Given the description of an element on the screen output the (x, y) to click on. 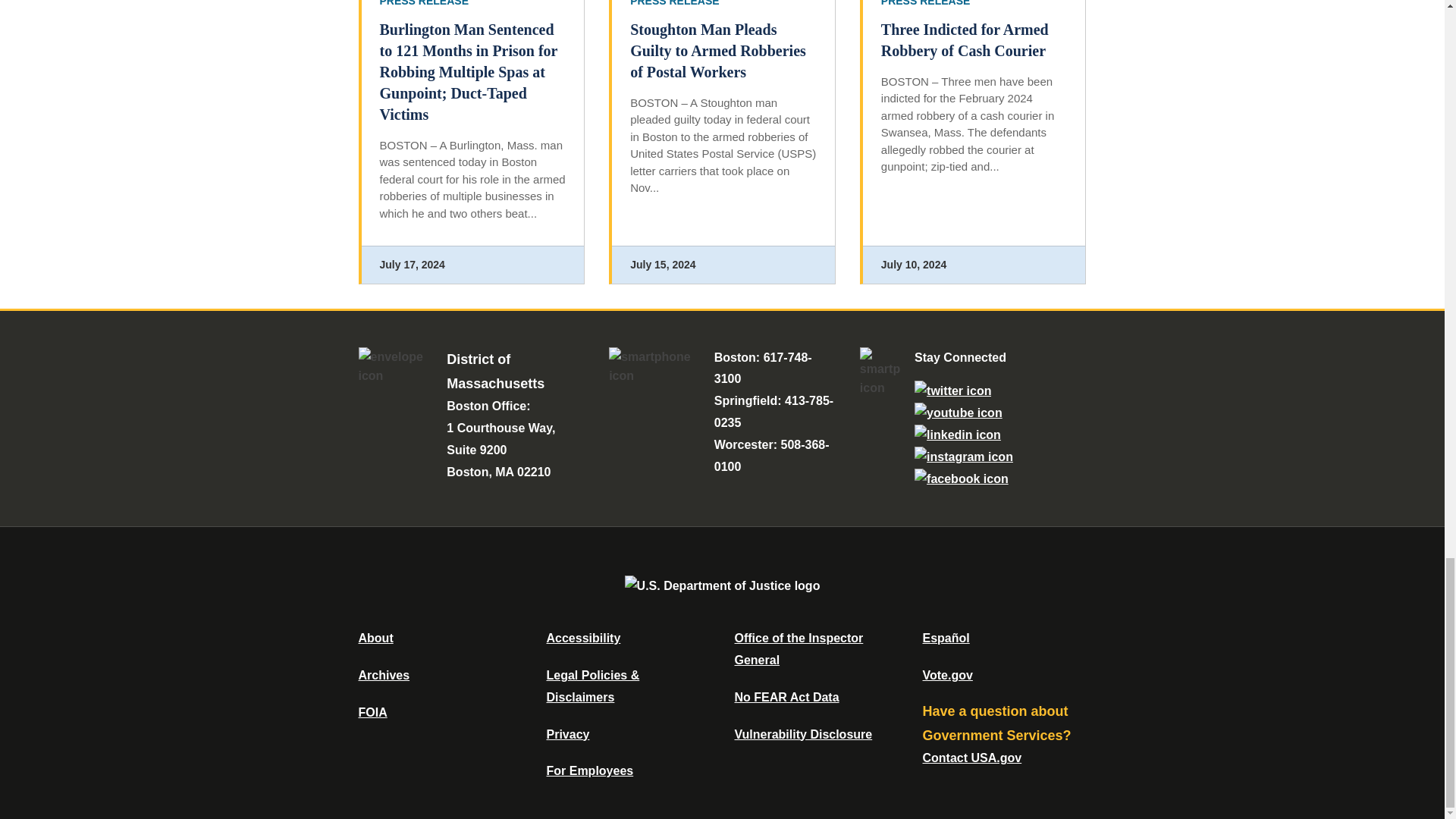
About DOJ (375, 637)
Department of Justice Archive (383, 675)
Accessibility Statement (583, 637)
For Employees (589, 770)
Legal Policies and Disclaimers (592, 686)
Data Posted Pursuant To The No Fear Act (785, 697)
Office of Information Policy (372, 712)
